Given the description of an element on the screen output the (x, y) to click on. 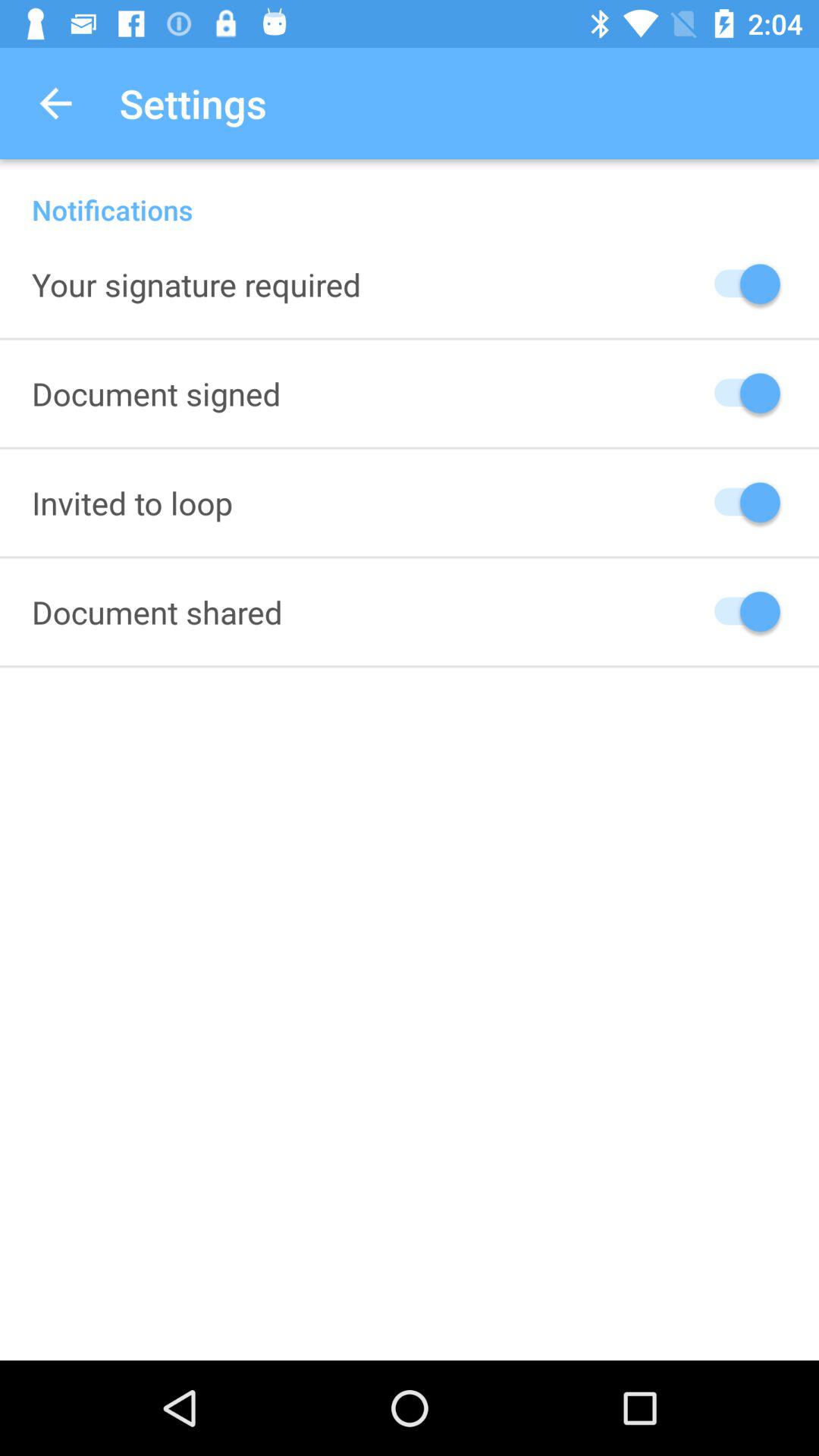
press the item below your signature required (155, 393)
